Given the description of an element on the screen output the (x, y) to click on. 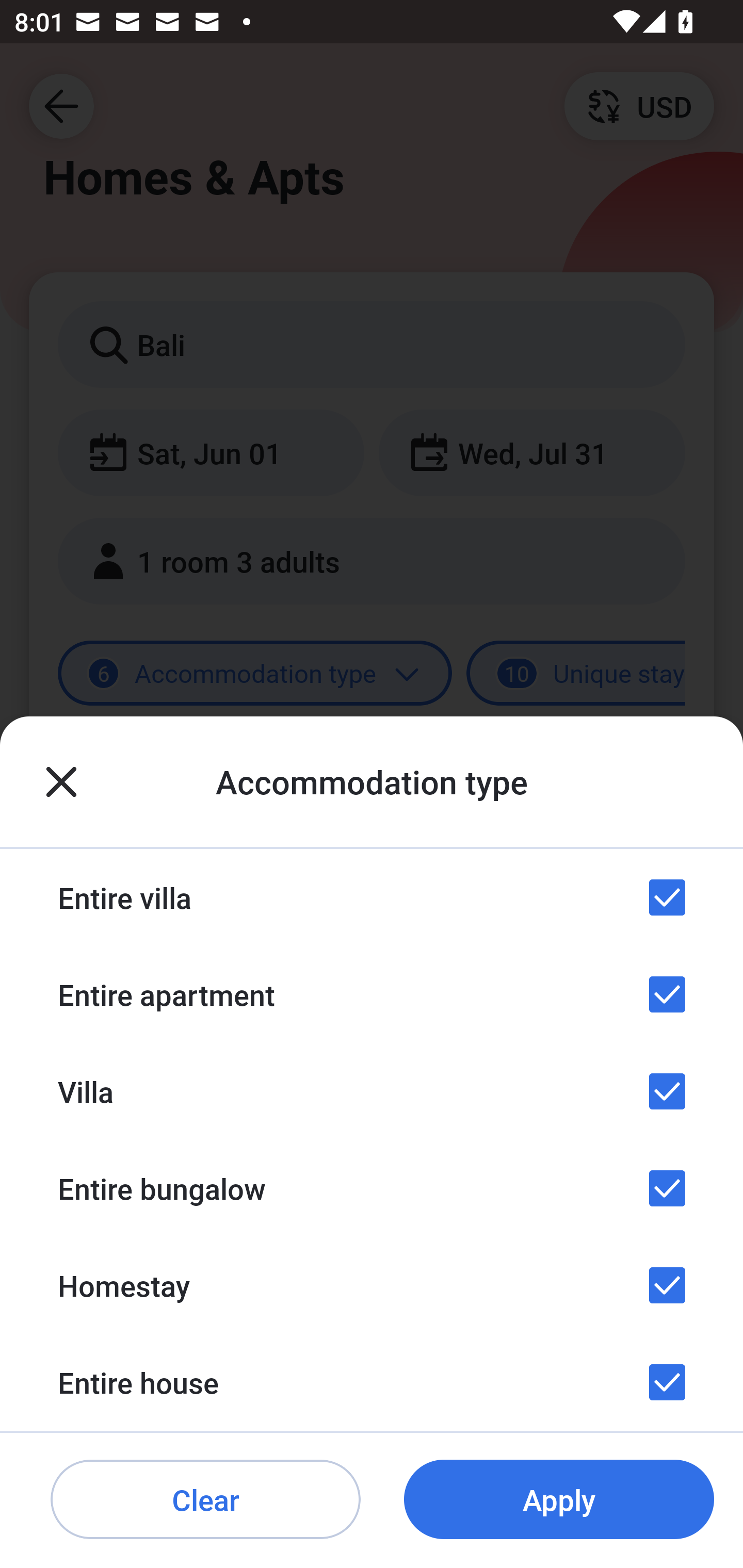
Entire villa (371, 897)
Entire apartment (371, 994)
Villa (371, 1091)
Entire bungalow (371, 1188)
Homestay (371, 1284)
Entire house (371, 1382)
Clear (205, 1499)
Apply (559, 1499)
